Given the description of an element on the screen output the (x, y) to click on. 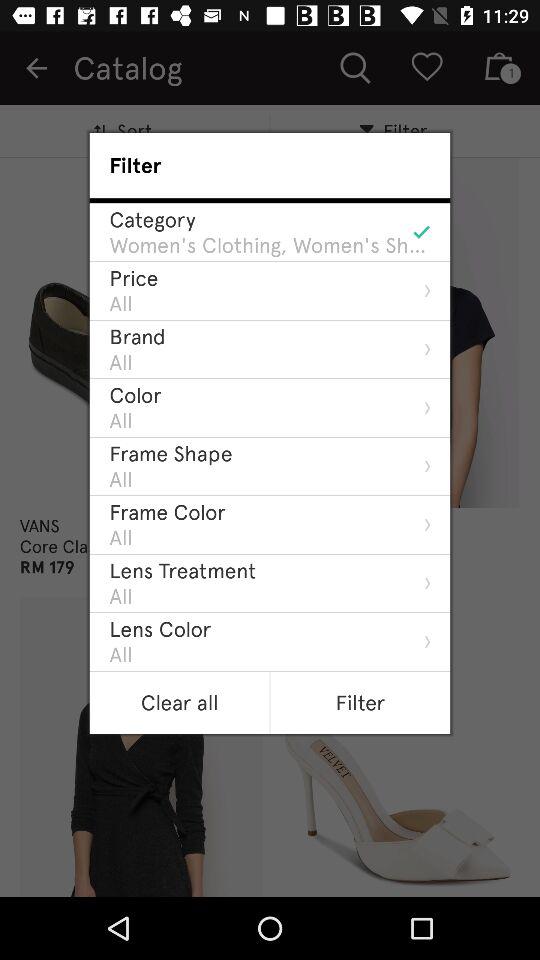
tap the icon below women s clothing item (133, 277)
